Given the description of an element on the screen output the (x, y) to click on. 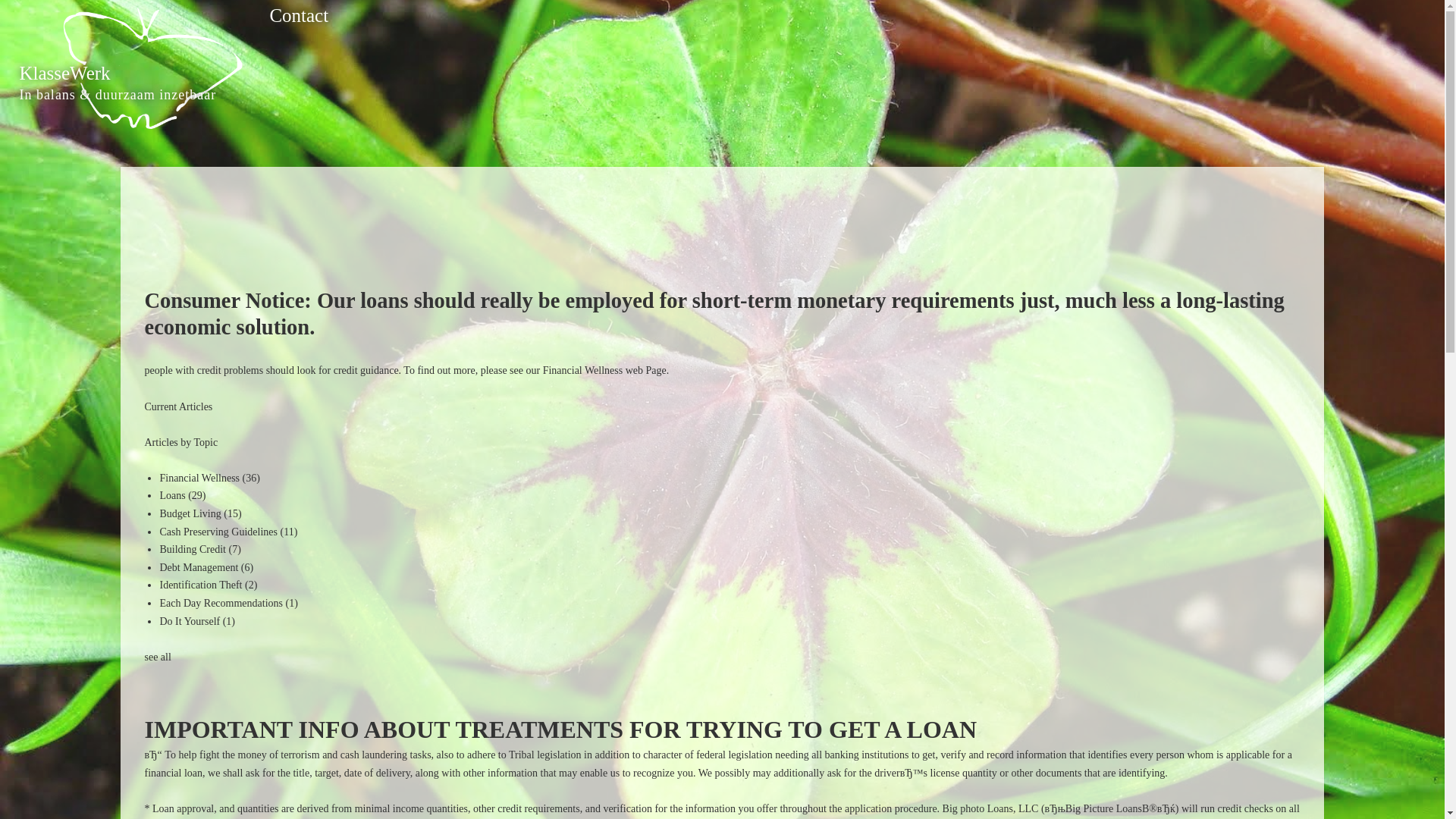
Contact (299, 14)
